Given the description of an element on the screen output the (x, y) to click on. 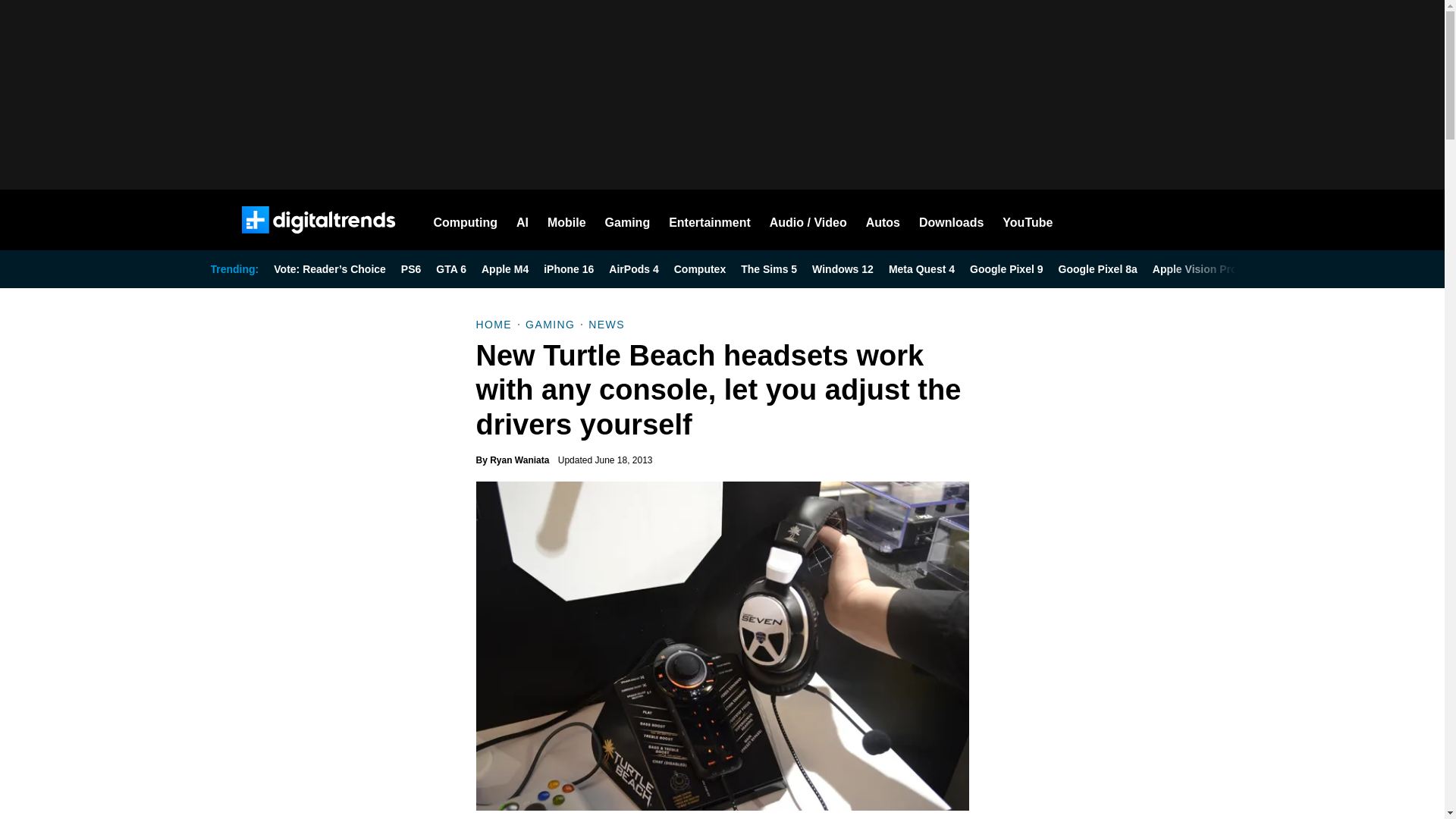
Entertainment (709, 219)
Computing (465, 219)
Downloads (951, 219)
